Given the description of an element on the screen output the (x, y) to click on. 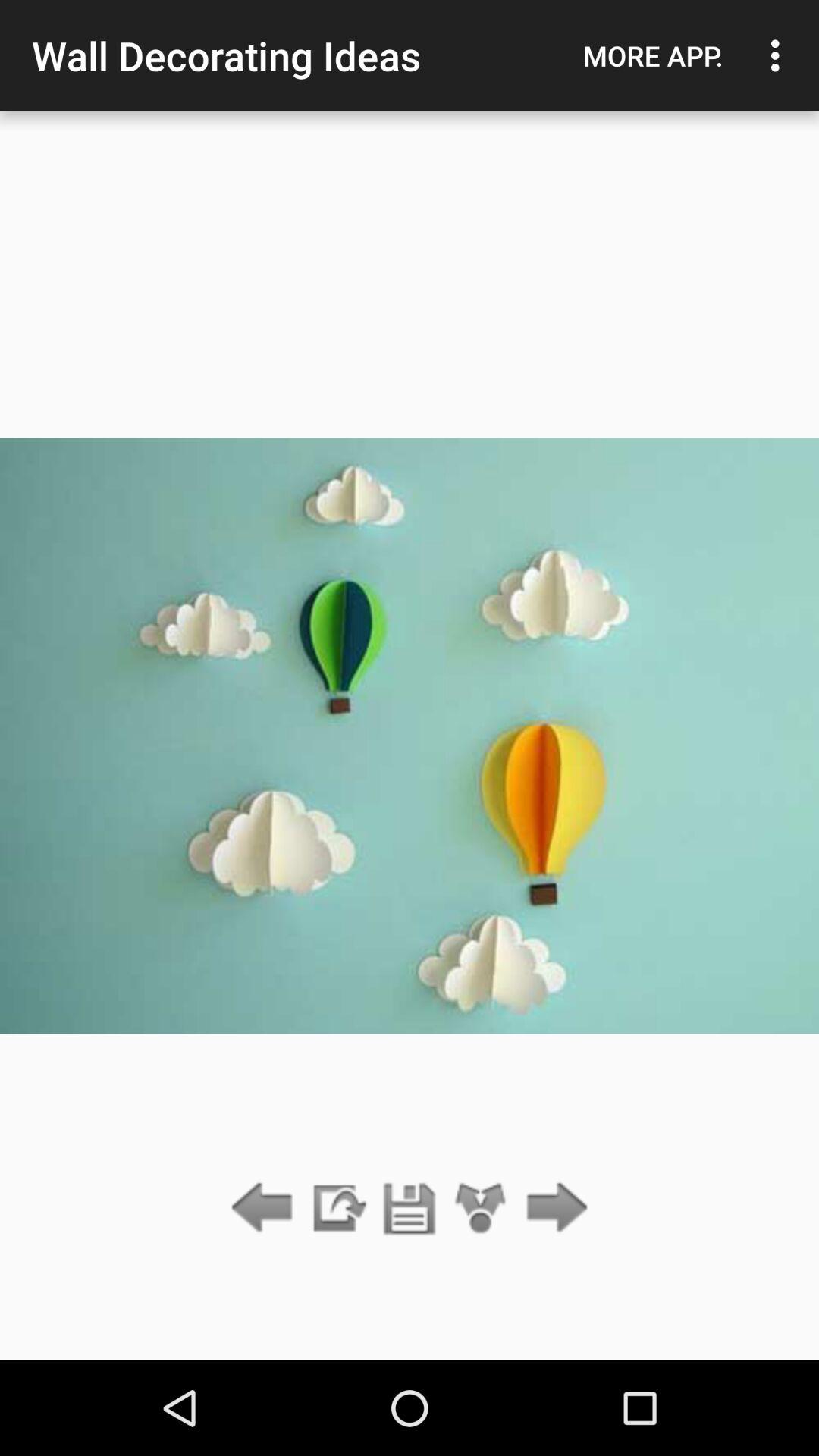
choose the item to the right of the wall decorating ideas item (653, 55)
